Given the description of an element on the screen output the (x, y) to click on. 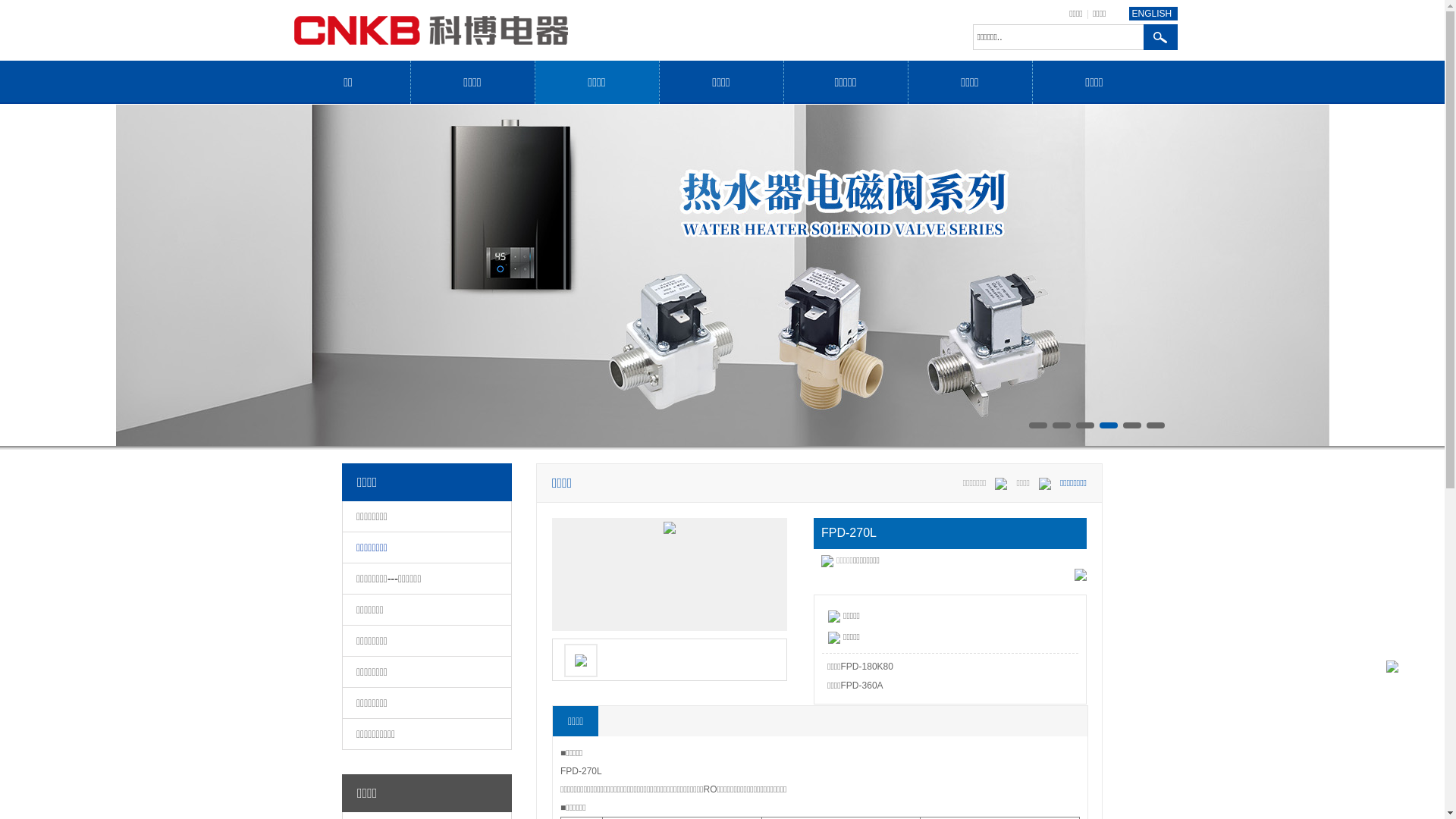
ENGLISH Element type: text (1152, 13)
